Given the description of an element on the screen output the (x, y) to click on. 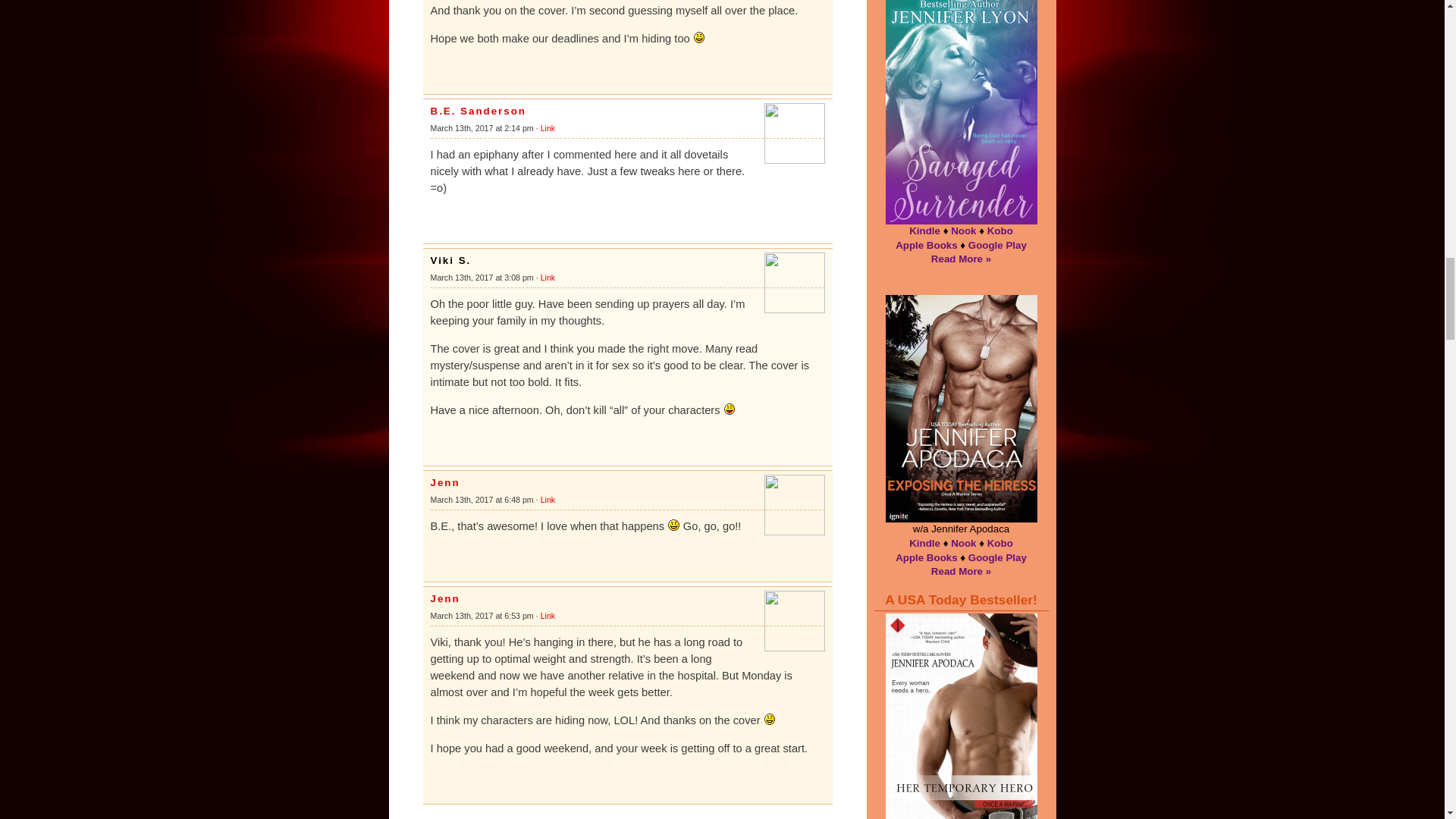
Link (548, 276)
Link (548, 614)
B.E. Sanderson (478, 111)
Link (548, 499)
Link (548, 127)
Jenn (445, 598)
Jenn (445, 482)
